Given the description of an element on the screen output the (x, y) to click on. 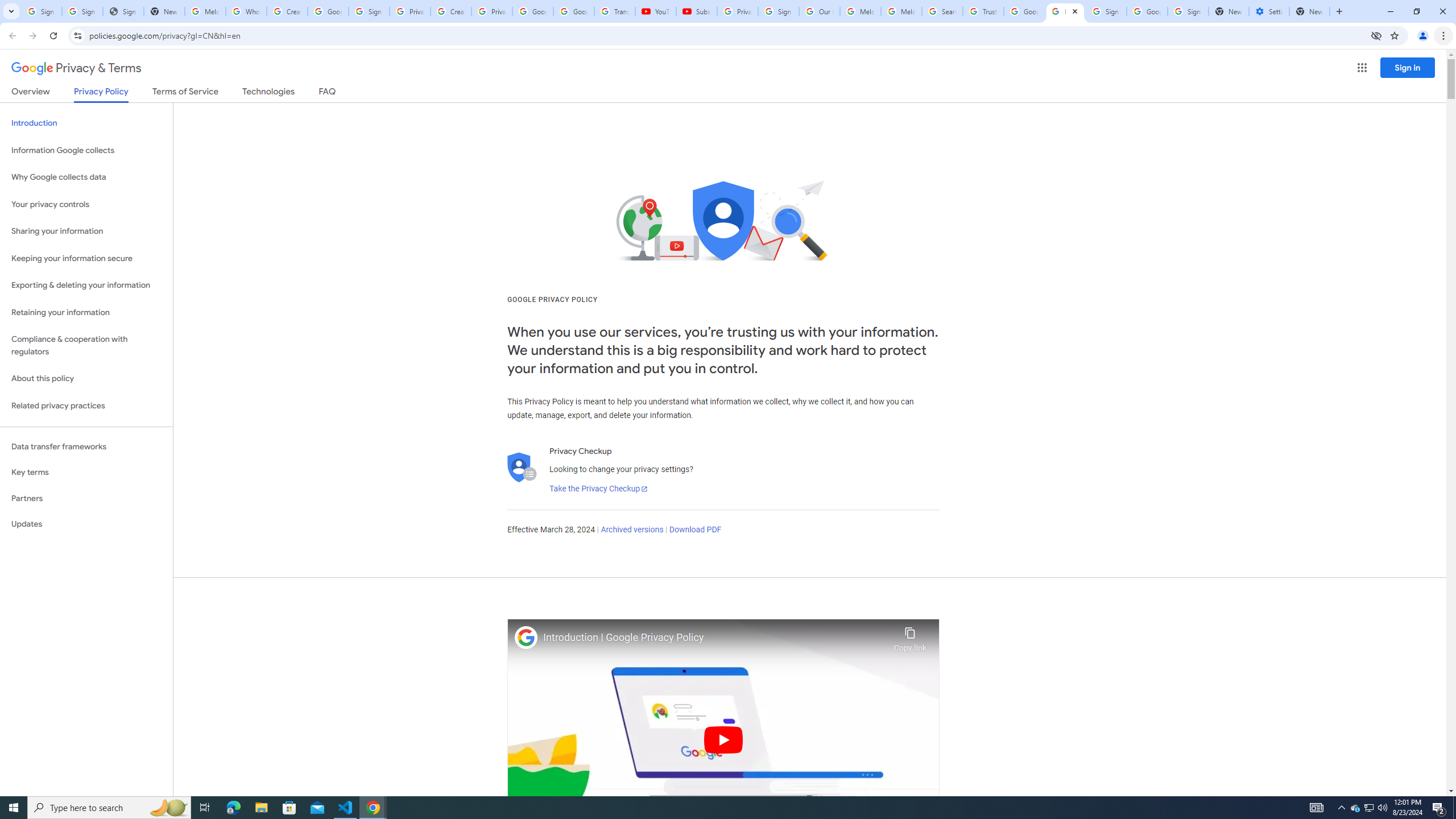
Photo image of Google (526, 636)
Introduction | Google Privacy Policy (715, 637)
YouTube (655, 11)
Download PDF (695, 529)
